Given the description of an element on the screen output the (x, y) to click on. 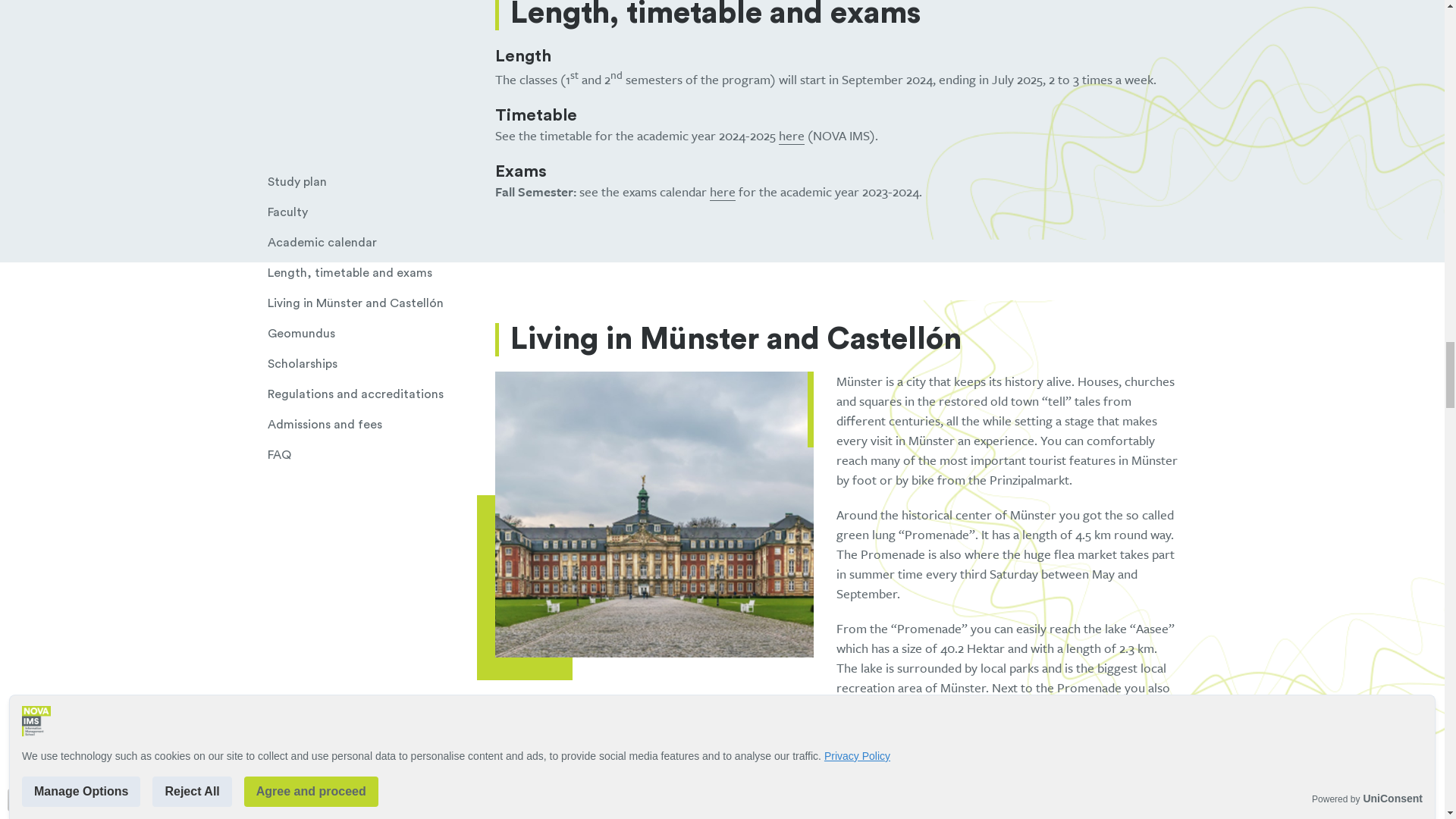
GEOTECH Exam Calendar Fall Semester 2023.2024 (722, 191)
